Given the description of an element on the screen output the (x, y) to click on. 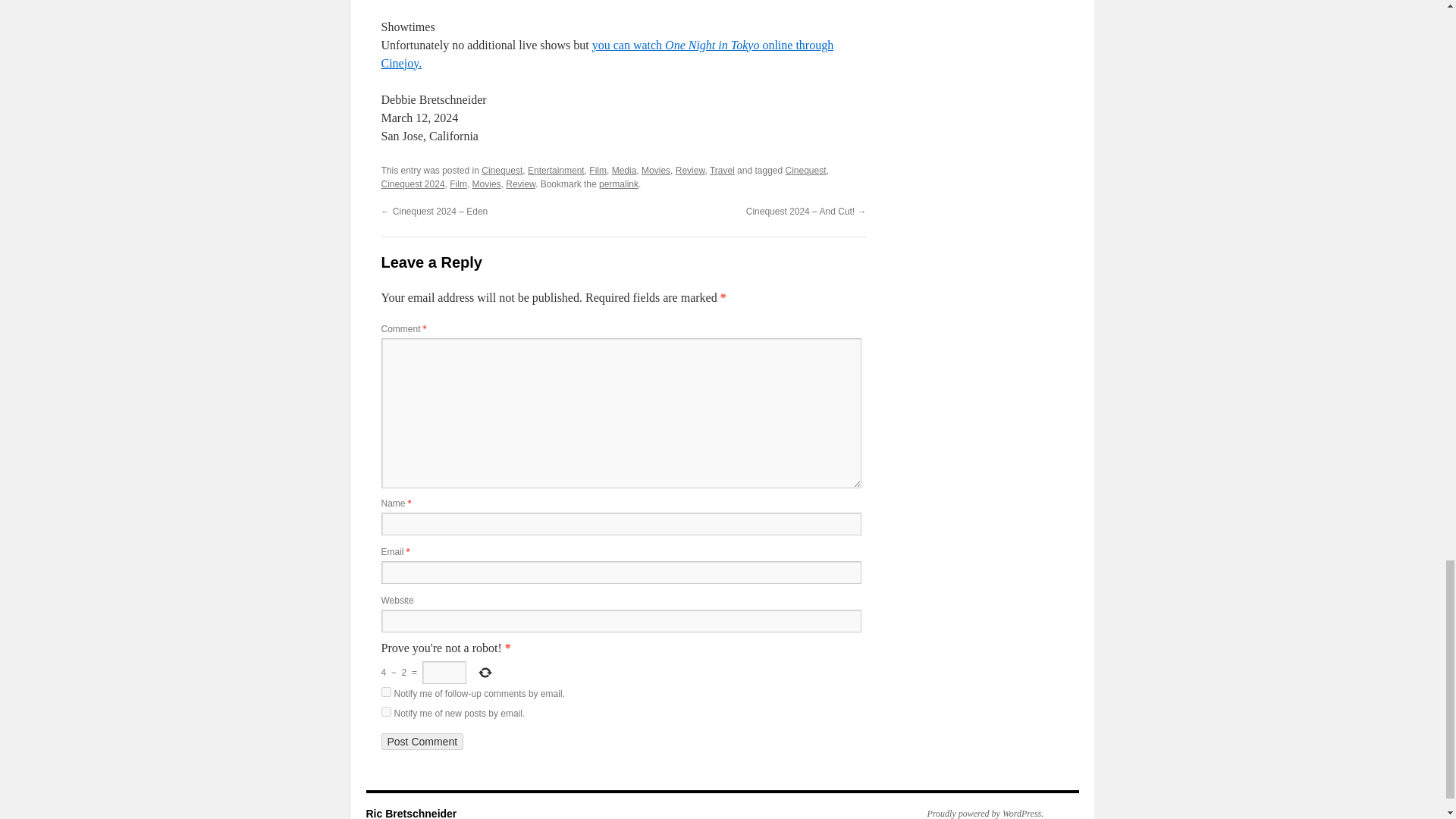
Review (520, 184)
Post Comment (421, 741)
Movies (655, 170)
Cinequest (501, 170)
Media (624, 170)
you can watch One Night in Tokyo online through Cinejoy. (606, 53)
Movies (485, 184)
Film (598, 170)
Travel (722, 170)
Review (689, 170)
